Given the description of an element on the screen output the (x, y) to click on. 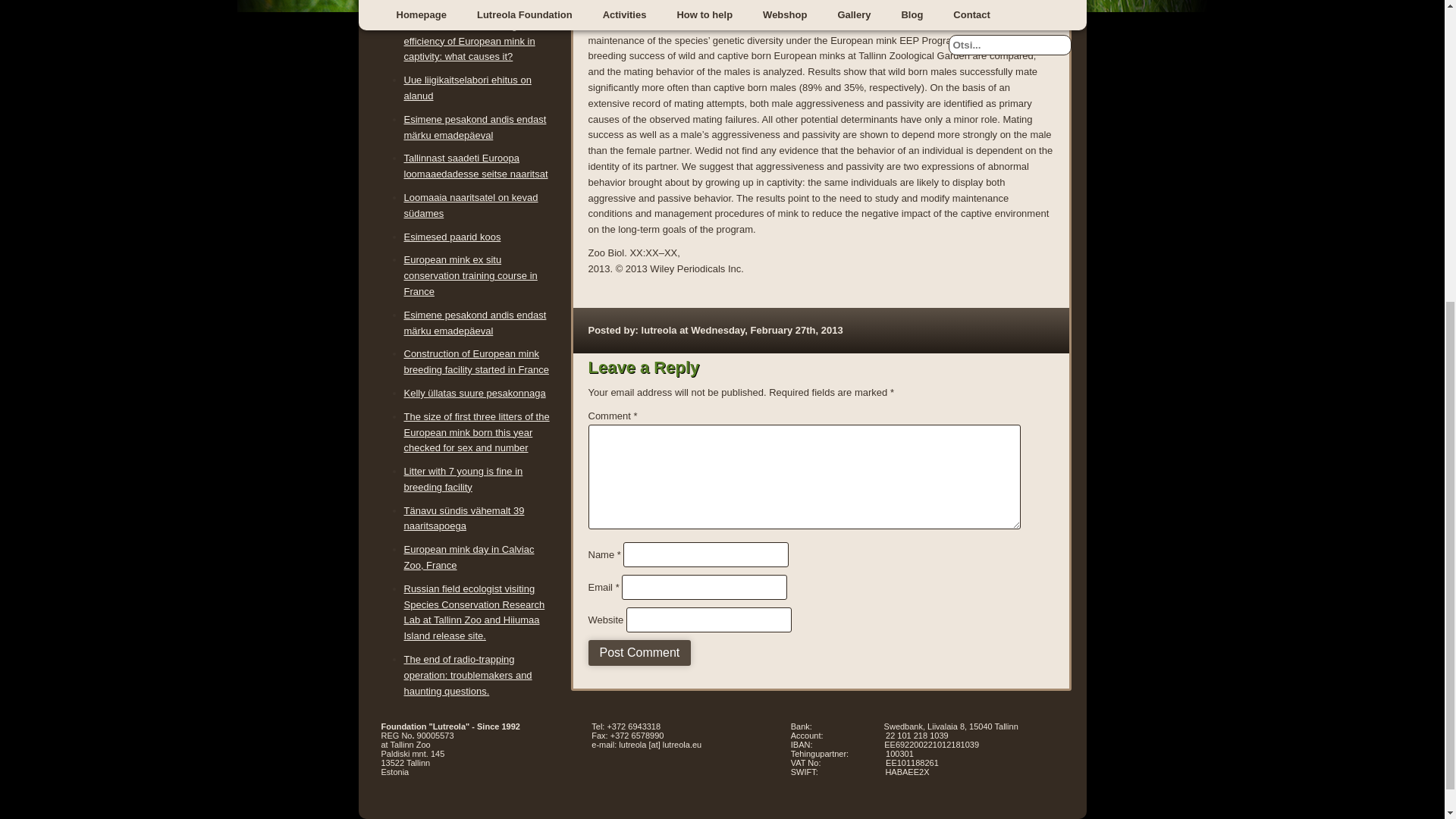
Post Comment (639, 652)
European mink map in IUCN Redlist is misleading (465, 3)
Post Comment (639, 652)
Uue liigikaitselabori ehitus on alanud (467, 87)
